Given the description of an element on the screen output the (x, y) to click on. 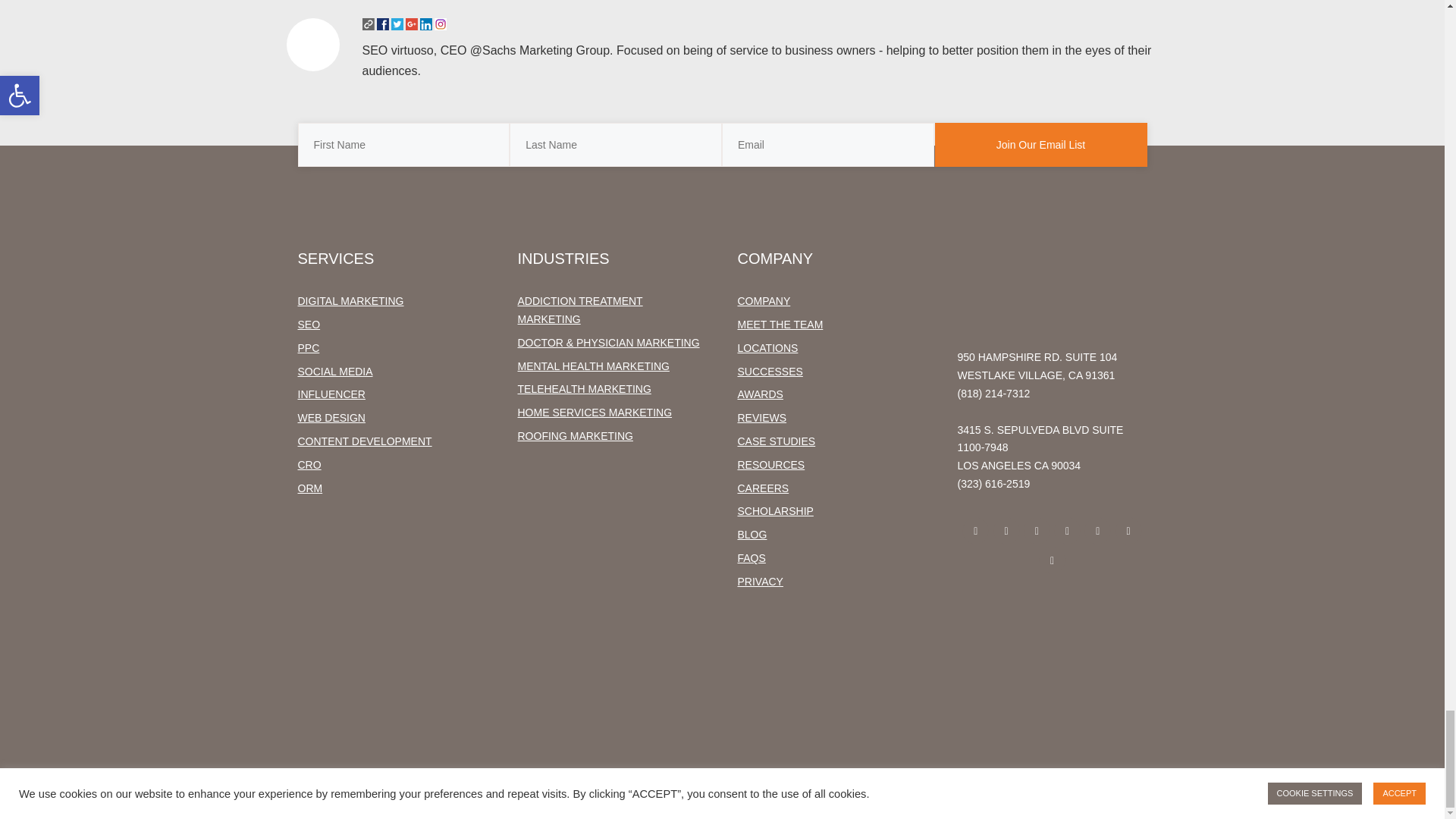
Join Our Email List (1040, 144)
